Given the description of an element on the screen output the (x, y) to click on. 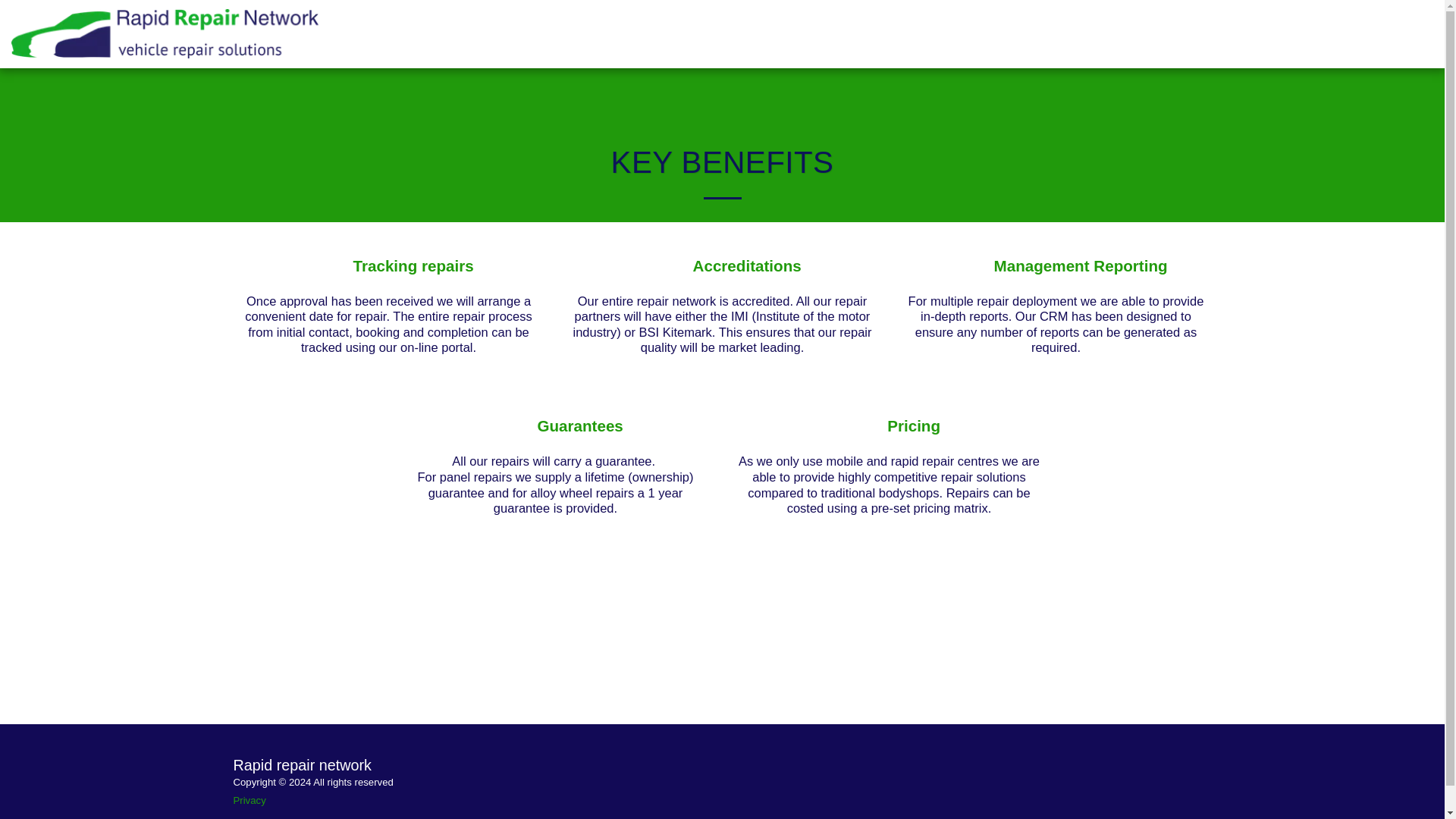
Management Reporting (1080, 266)
Tracking repairs (413, 266)
Guarantees (580, 426)
Pricing (913, 426)
Privacy (249, 799)
Accreditations (747, 266)
